Given the description of an element on the screen output the (x, y) to click on. 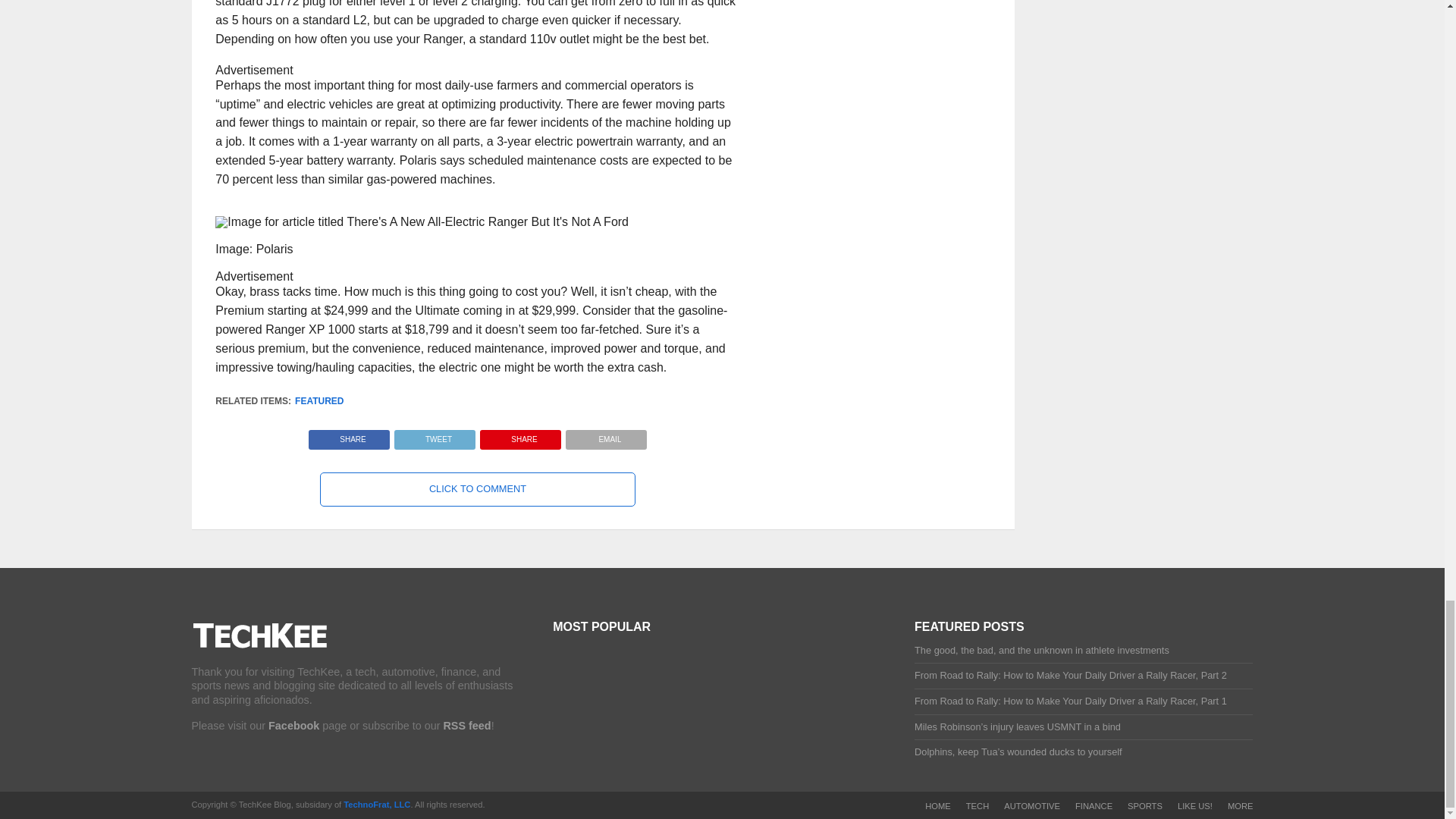
Share on Facebook (349, 435)
Tweet This Post (434, 435)
Pin This Post (520, 435)
